Given the description of an element on the screen output the (x, y) to click on. 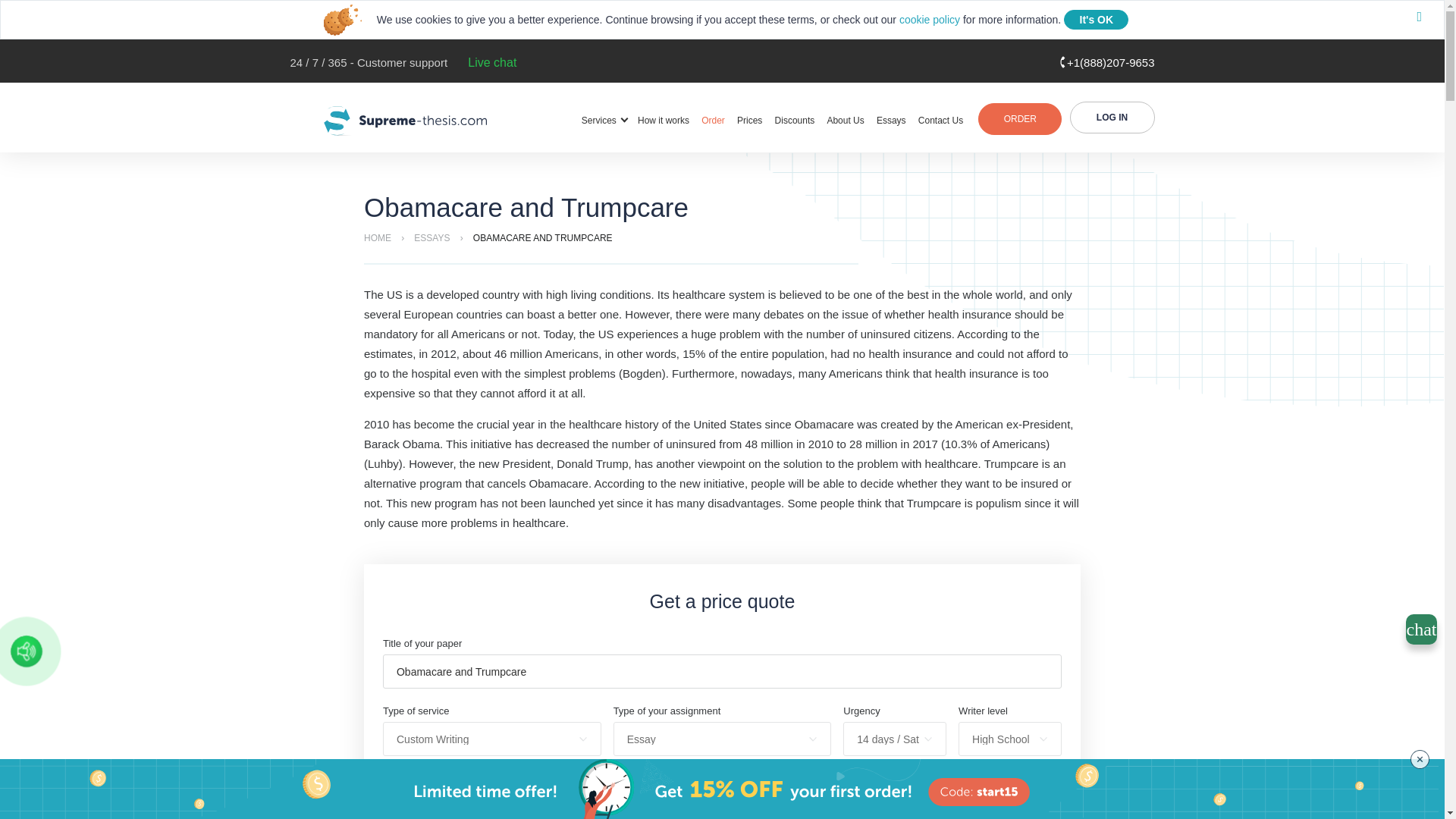
Plus (583, 804)
USD (640, 804)
Order (713, 120)
Contact Us (940, 120)
How it works (662, 121)
EUR (695, 804)
It's OK (1096, 19)
AUD (803, 804)
ORDER (1019, 119)
Log in (1112, 116)
Prices (748, 120)
Obamacare and Trumpcare (721, 671)
CAD (749, 804)
Minus (400, 804)
About Us (845, 120)
